Given the description of an element on the screen output the (x, y) to click on. 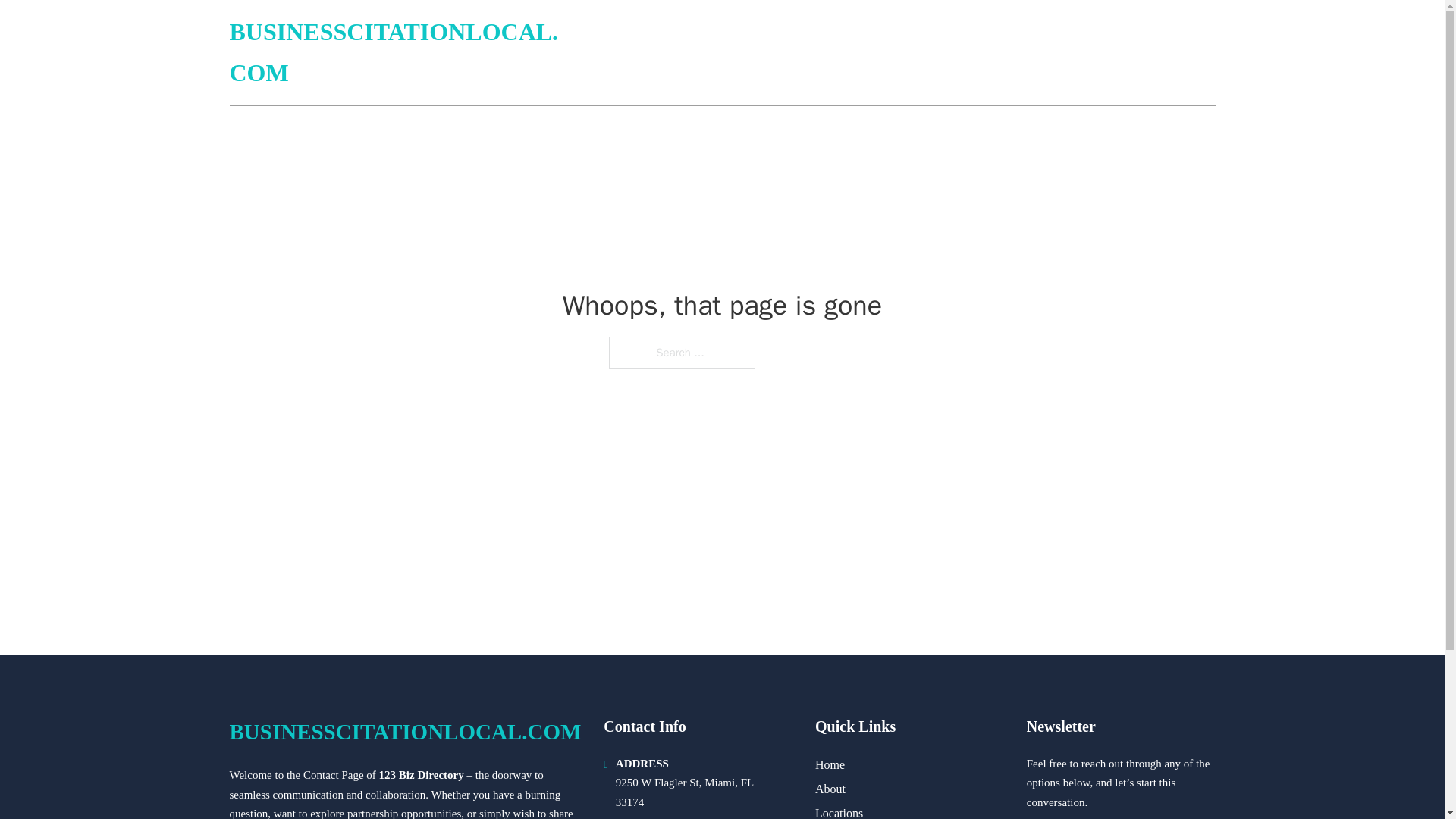
BUSINESSCITATIONLOCAL.COM (404, 732)
Home (829, 764)
BUSINESSCITATIONLOCAL.COM (400, 52)
HOME (1032, 53)
LOCATIONS (1105, 53)
About (830, 788)
Locations (839, 811)
